Given the description of an element on the screen output the (x, y) to click on. 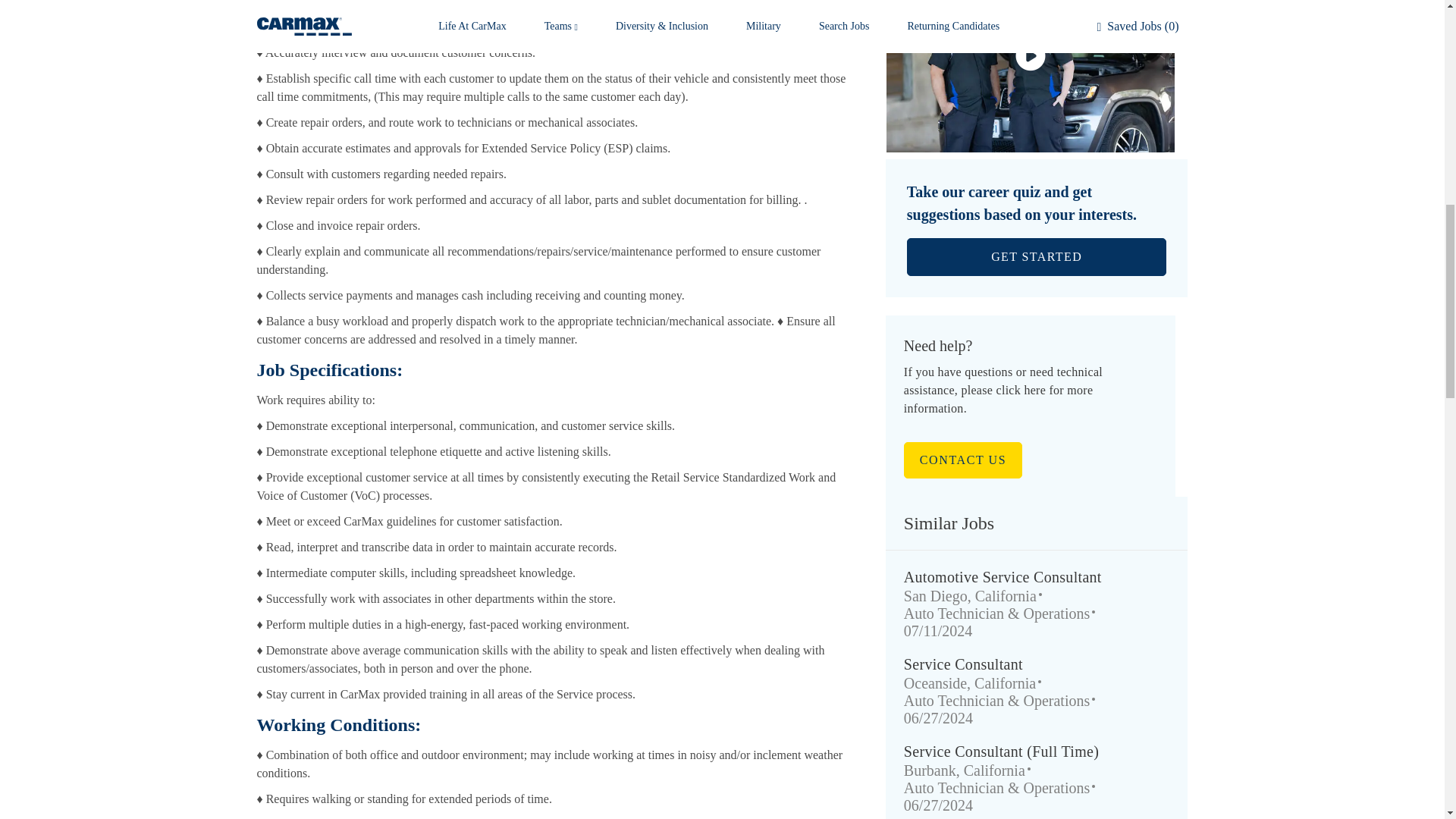
GET STARTED (1037, 257)
